Given the description of an element on the screen output the (x, y) to click on. 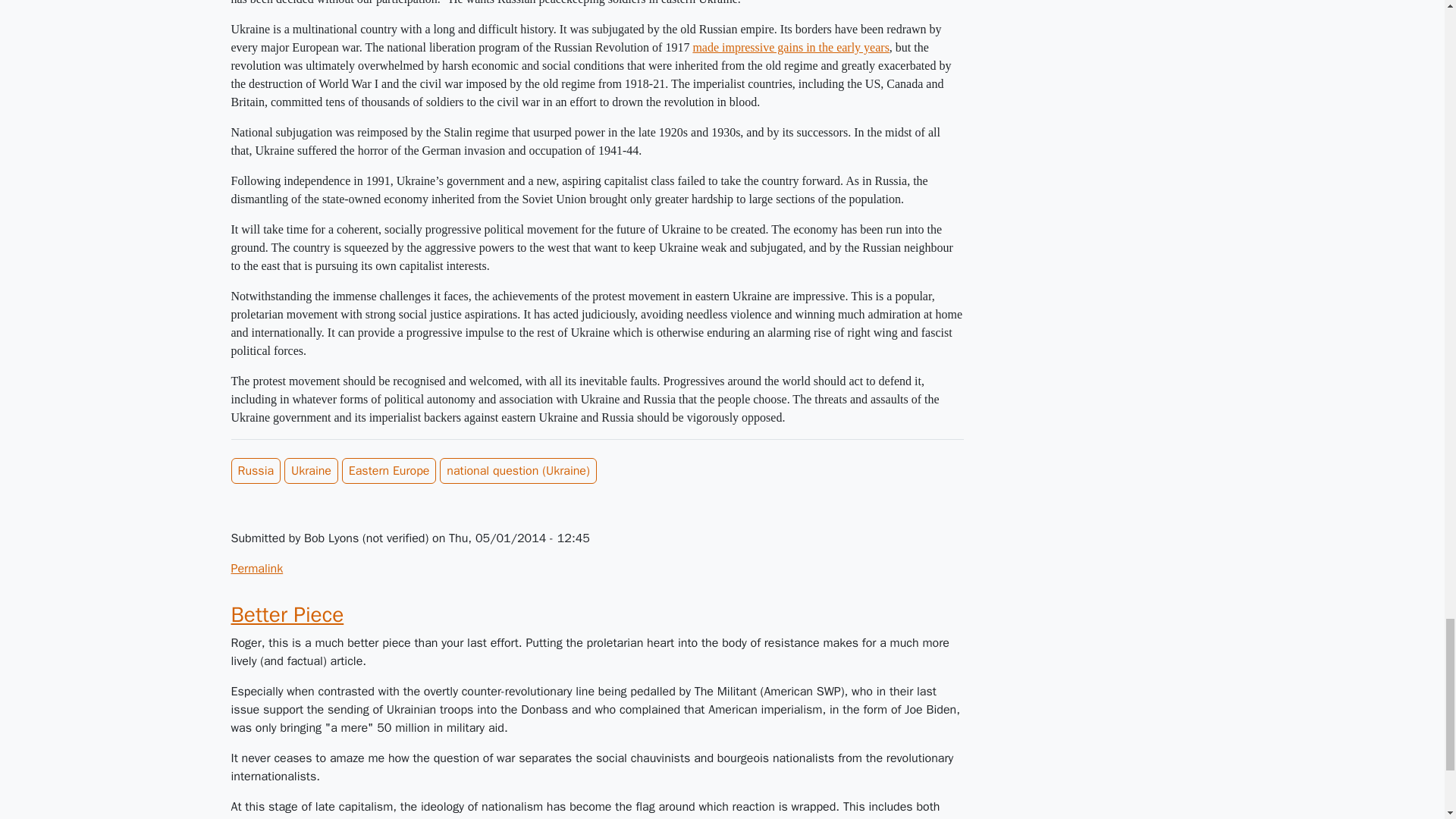
Eastern Europe (389, 470)
made impressive gains in the early years (790, 47)
Russia (255, 470)
Ukraine (310, 470)
